Given the description of an element on the screen output the (x, y) to click on. 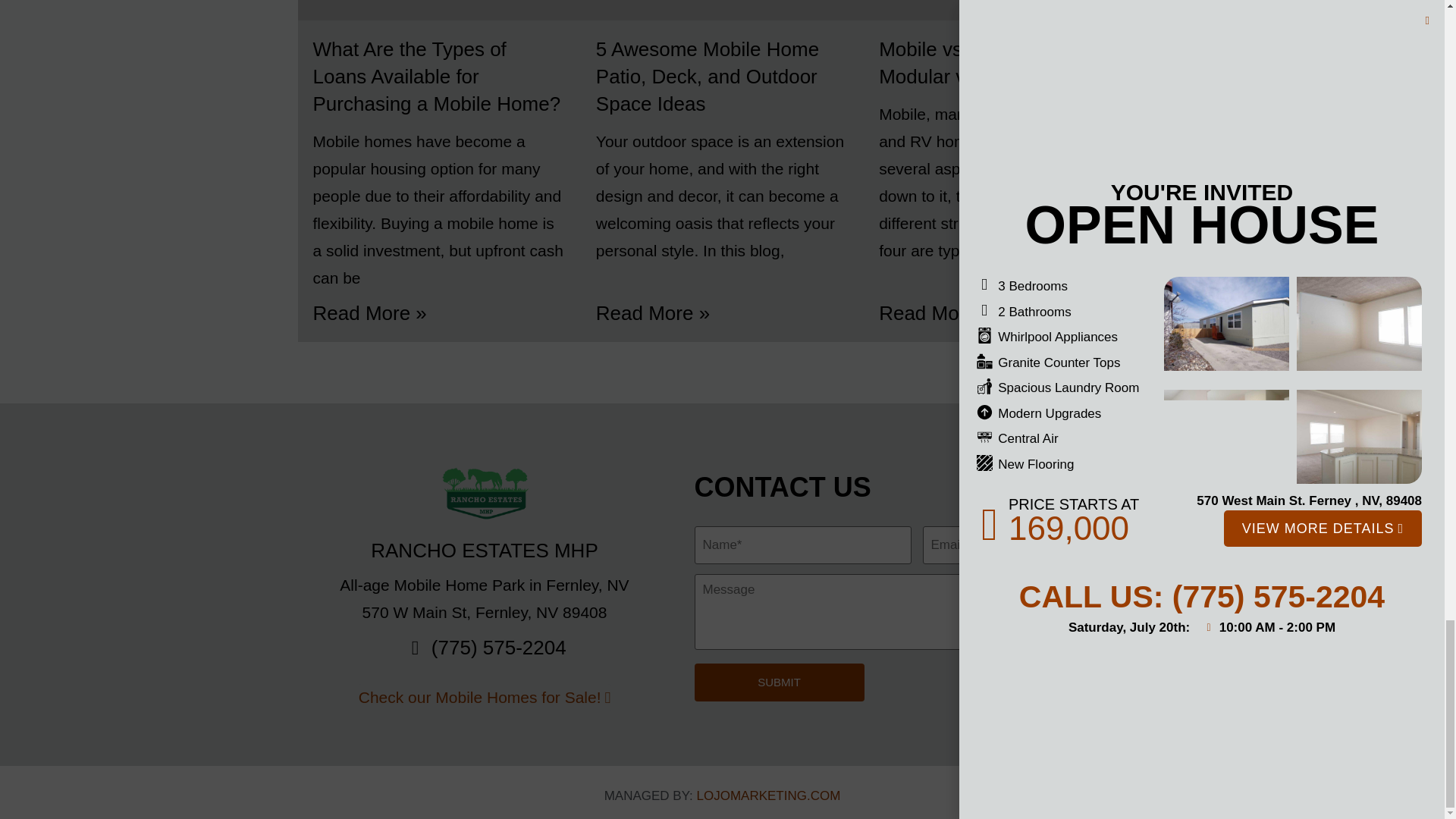
SUBMIT (779, 682)
